Given the description of an element on the screen output the (x, y) to click on. 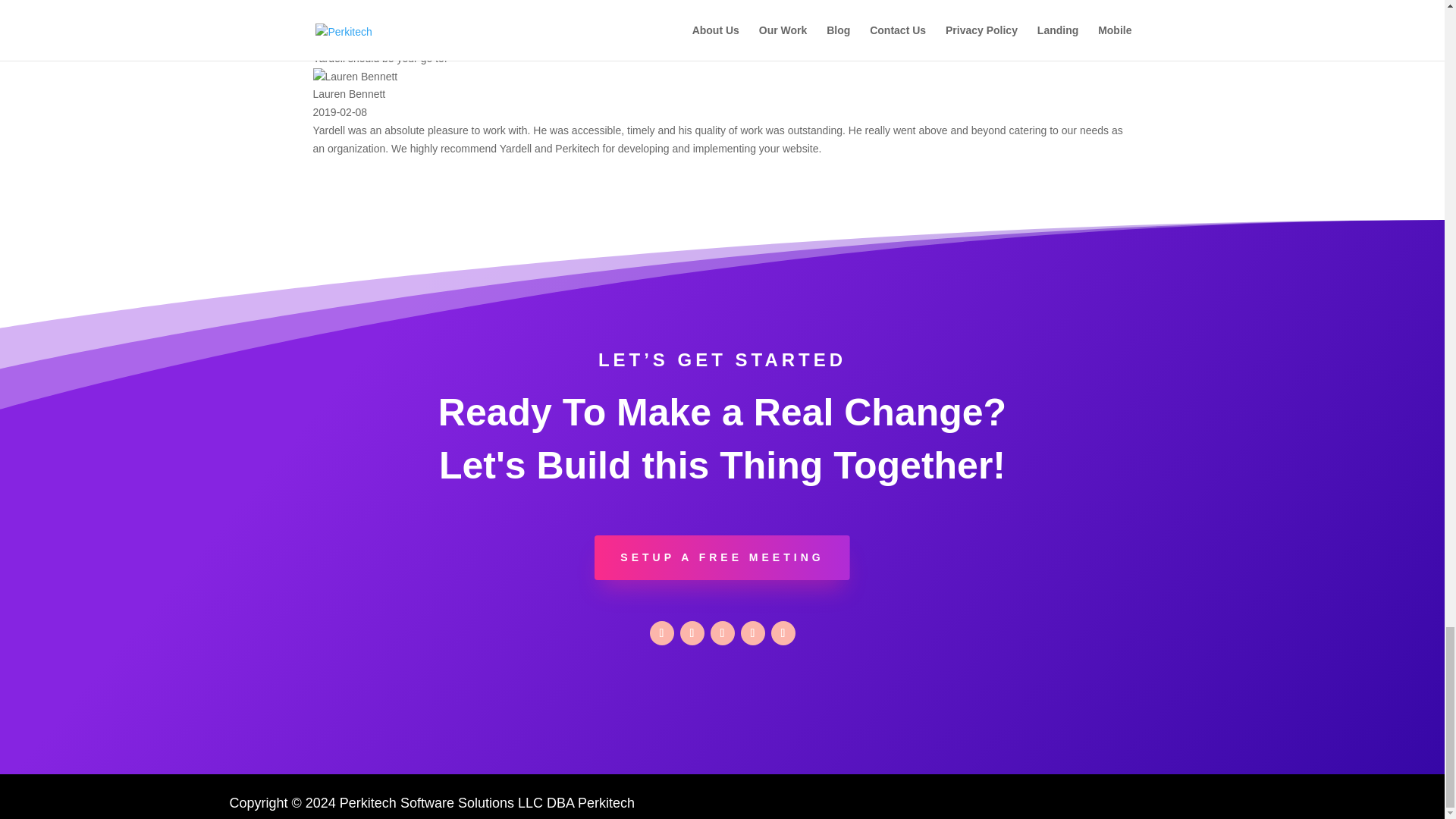
Follow on LinkedIn (721, 632)
Follow on Facebook (660, 632)
Follow on X (691, 632)
Follow on Instagram (751, 632)
SETUP A FREE MEETING (721, 557)
Follow on Youtube (782, 632)
